Given the description of an element on the screen output the (x, y) to click on. 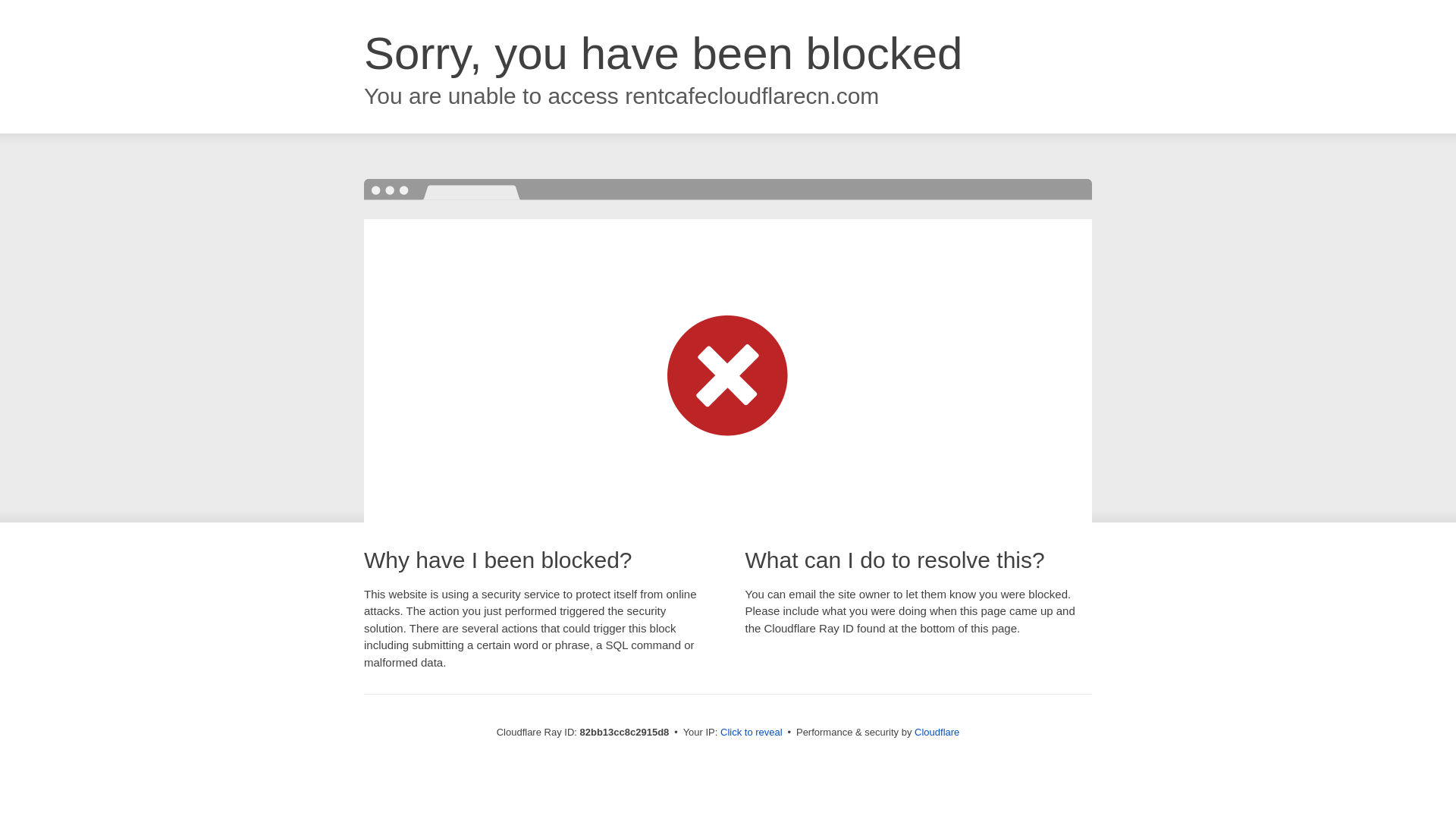
Click to reveal Element type: text (751, 732)
Cloudflare Element type: text (936, 731)
